Given the description of an element on the screen output the (x, y) to click on. 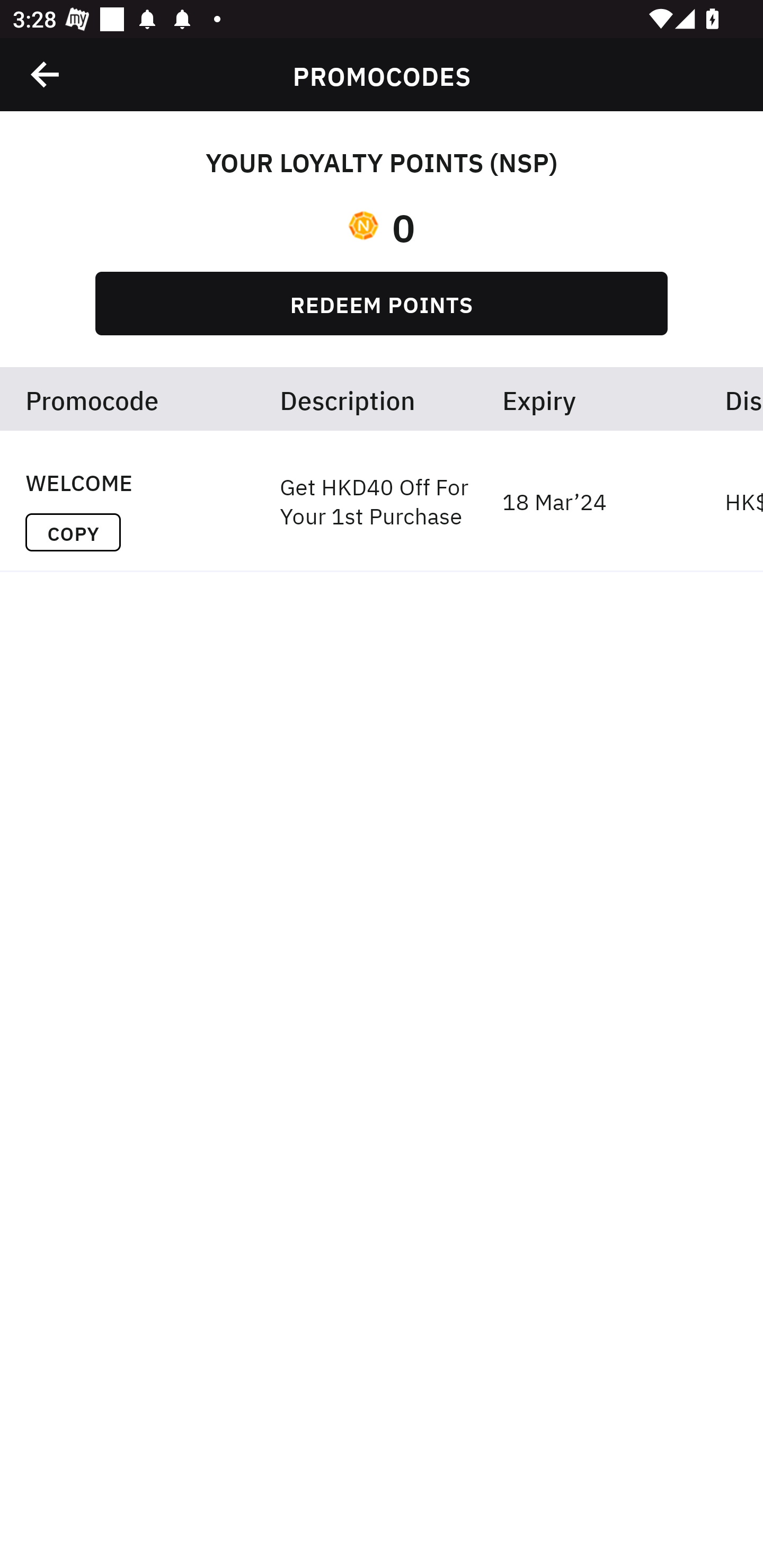
 (46, 74)
REDEEM POINTS (381, 303)
COPY (72, 531)
